Given the description of an element on the screen output the (x, y) to click on. 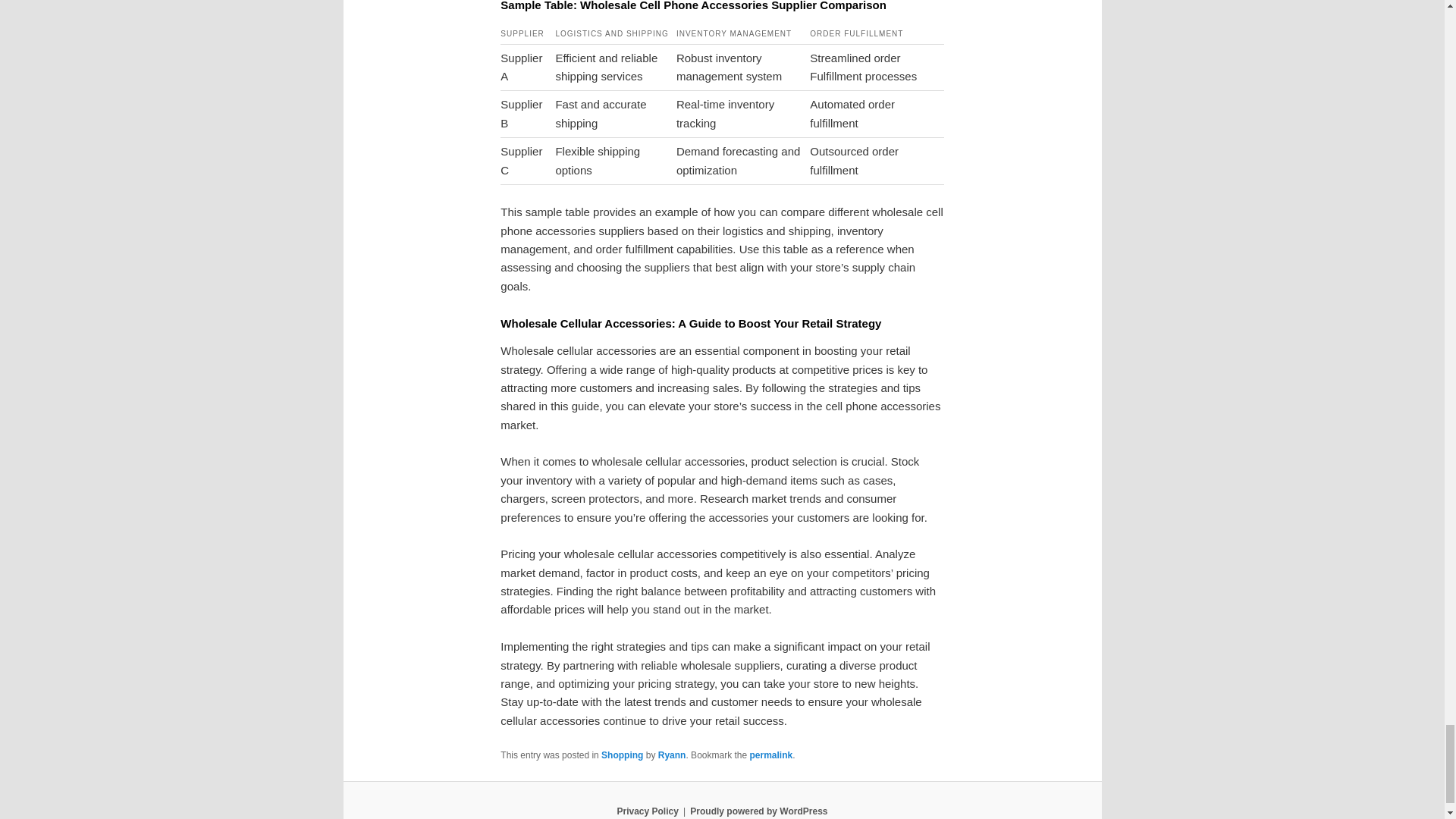
Permalink to Mobile Market: Wholesale Mobile Accessories (770, 755)
Proudly powered by WordPress (758, 810)
Semantic Personal Publishing Platform (758, 810)
Privacy Policy (646, 810)
permalink (770, 755)
Shopping (622, 755)
Ryann (671, 755)
